Given the description of an element on the screen output the (x, y) to click on. 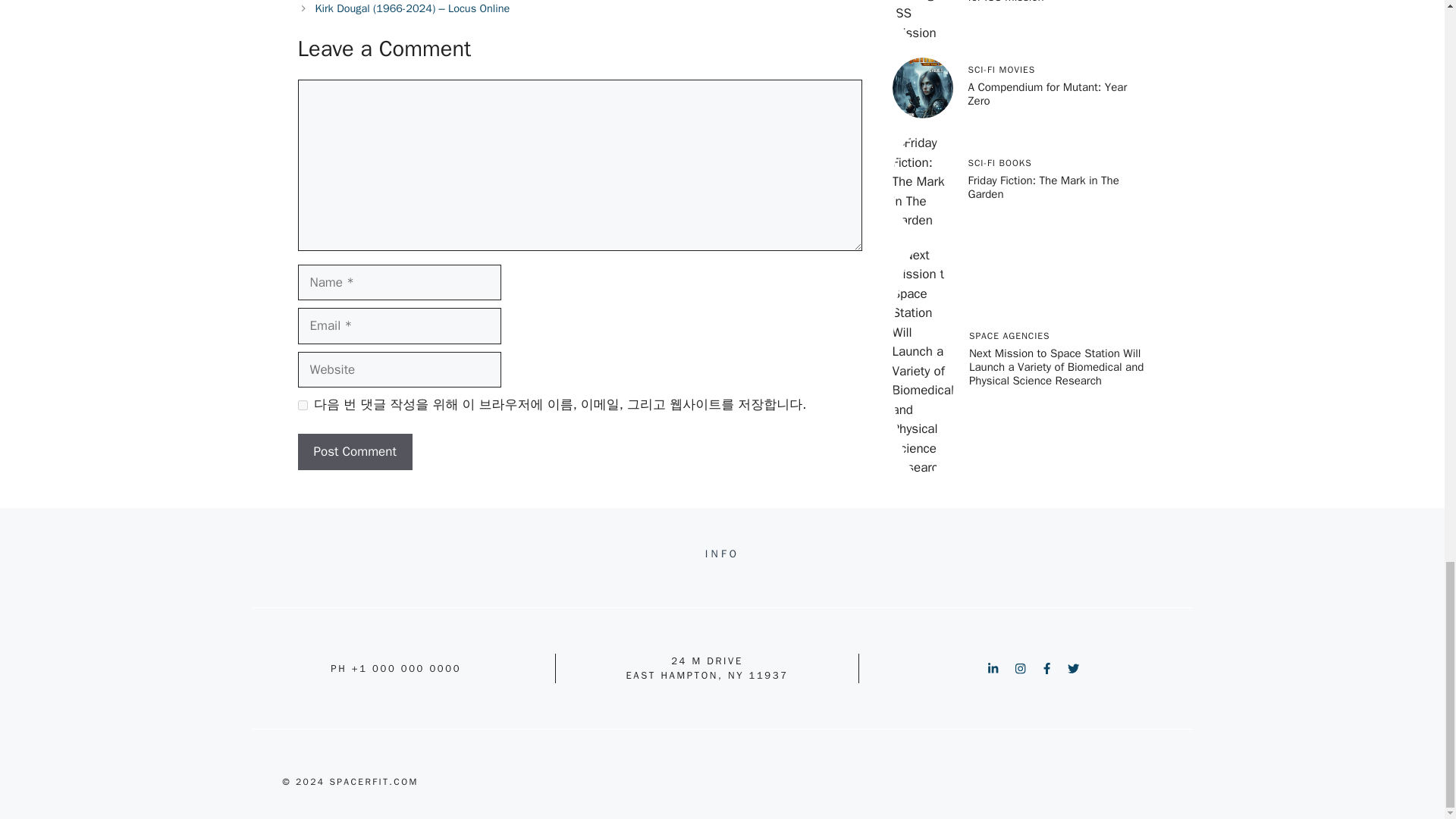
Post Comment (354, 452)
yes (302, 405)
